Given the description of an element on the screen output the (x, y) to click on. 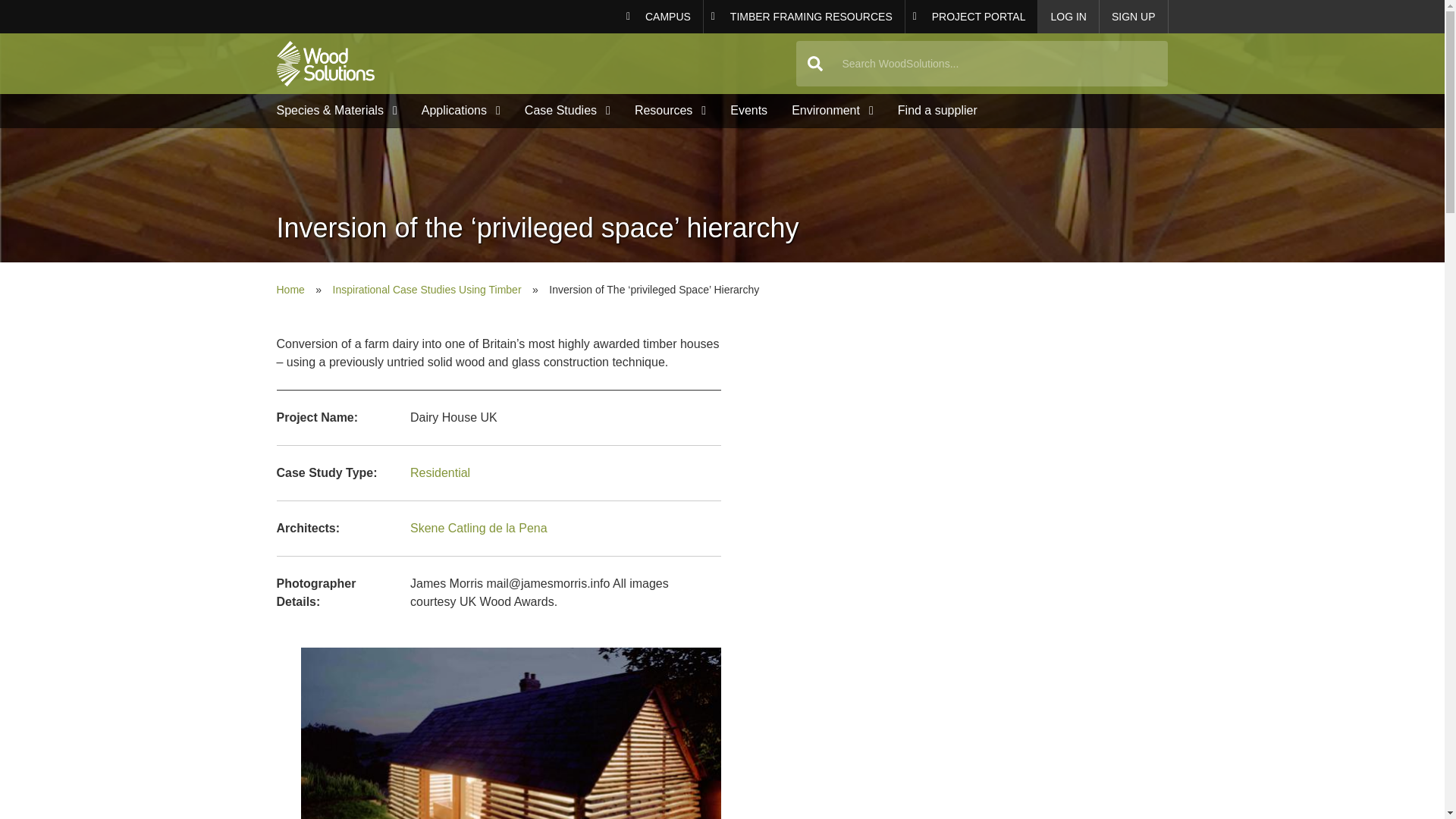
TIMBER FRAMING RESOURCES (972, 16)
SIGN UP (804, 16)
CAMPUS (1134, 16)
Expand sub menu (660, 16)
LOG IN (285, 150)
Timber Framing Resources (1068, 16)
Home (804, 16)
Timber-rich projects from around the world (325, 63)
Applications (972, 16)
